Given the description of an element on the screen output the (x, y) to click on. 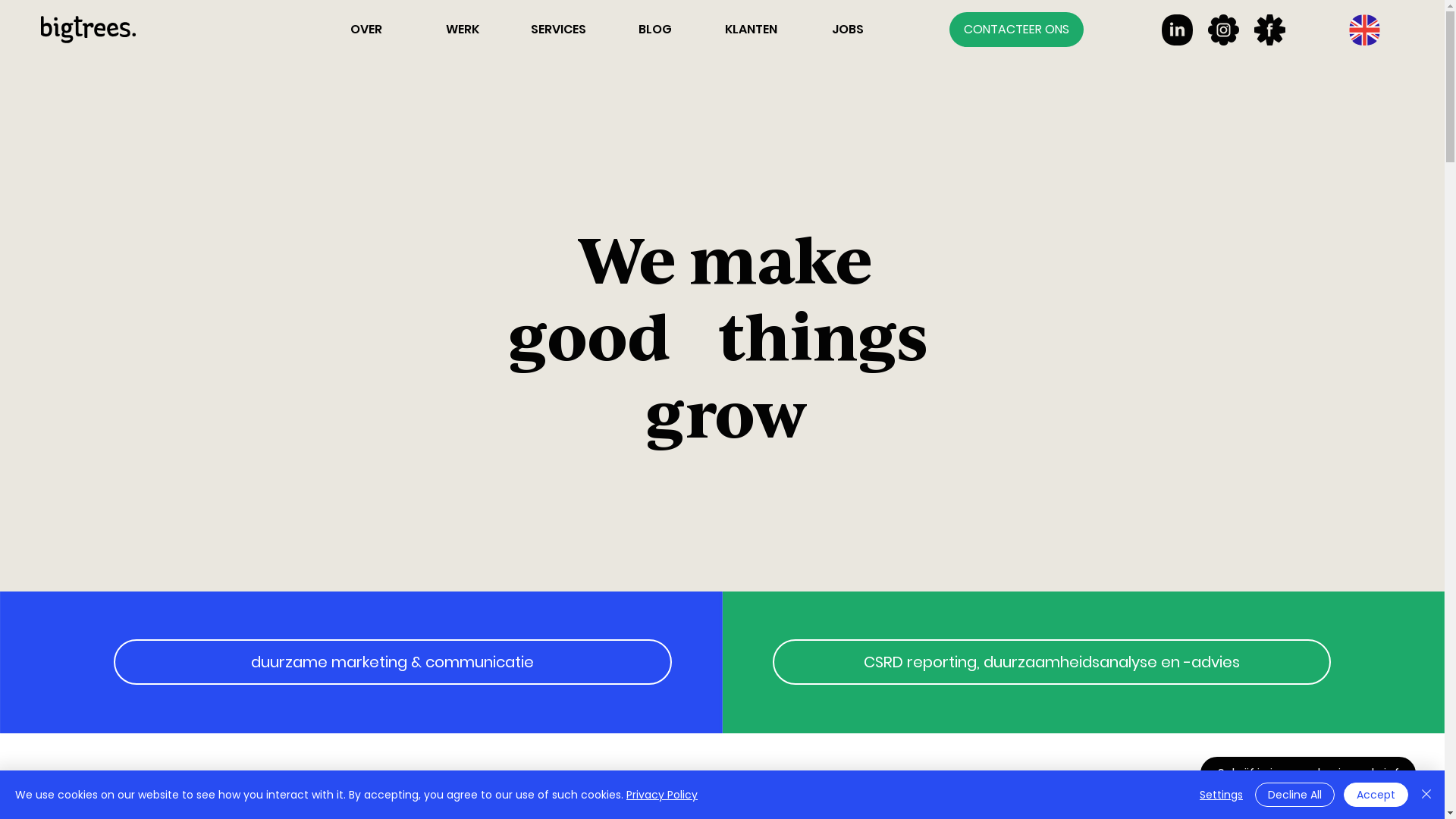
WERK Element type: text (462, 29)
JOBS Element type: text (847, 29)
CONTACTEER ONS Element type: text (1016, 29)
Schrijf je in voor de nieuwsbrief Element type: text (1307, 773)
SERVICES Element type: text (558, 29)
Accept Element type: text (1375, 794)
KLANTEN Element type: text (750, 29)
BLOG Element type: text (654, 29)
CSRD reporting, duurzaamheidsanalyse en -advies Element type: text (1051, 661)
duurzame marketing & communicatie Element type: text (392, 661)
Decline All Element type: text (1294, 794)
Privacy Policy Element type: text (661, 794)
OVER Element type: text (365, 29)
